Given the description of an element on the screen output the (x, y) to click on. 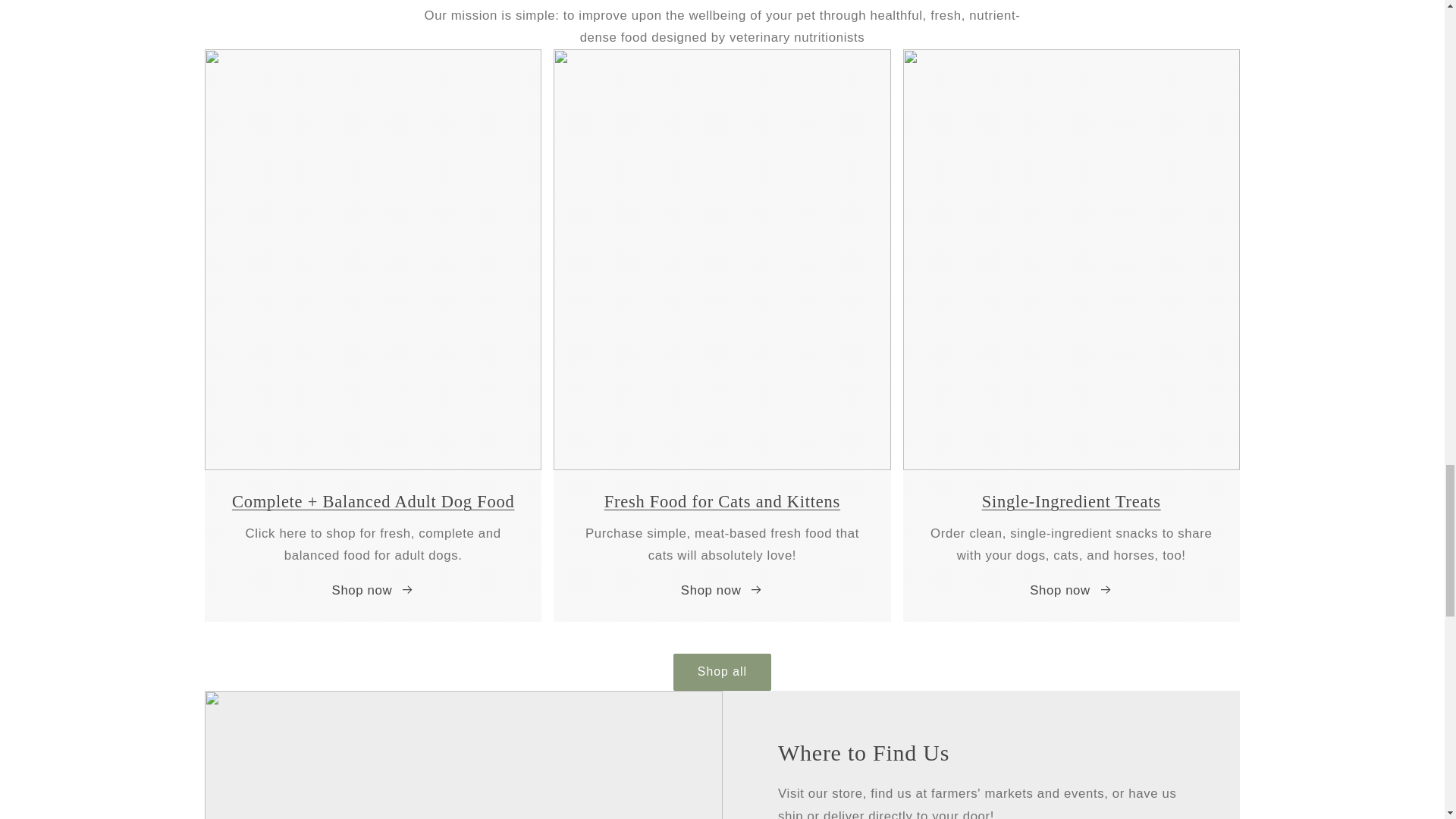
Fresh Dog Food (373, 501)
Treats (1070, 501)
Fresh Cat Food (722, 501)
